Given the description of an element on the screen output the (x, y) to click on. 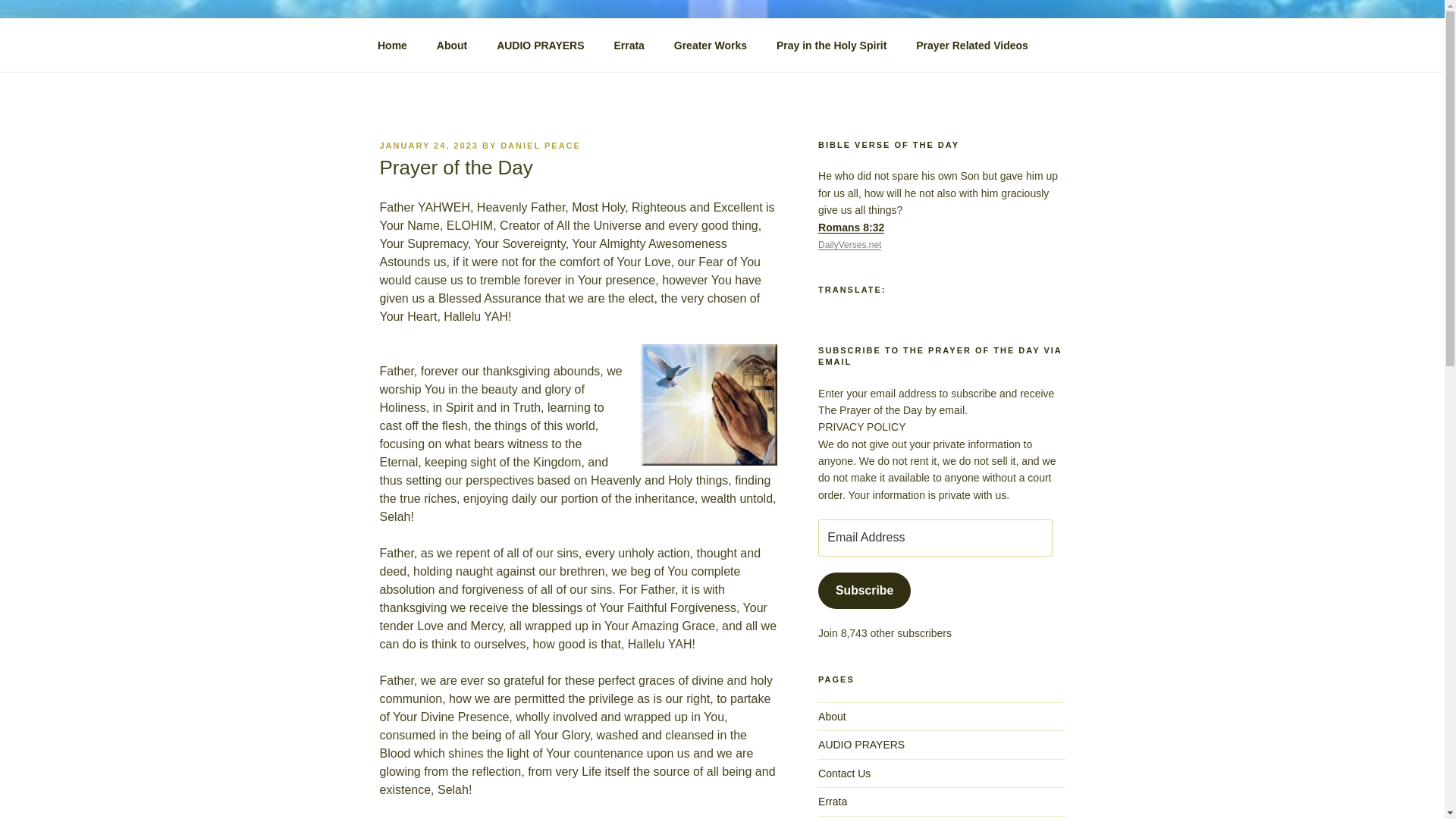
Lk 11:1 (544, 44)
Contact Us (844, 773)
About (451, 45)
DailyVerses.net (849, 244)
Romans 8:32 (850, 227)
THE PRAYER OF THE DAY (573, 52)
Subscribe (864, 590)
Pray in the Holy Spirit (830, 45)
AUDIO PRAYERS (861, 744)
Errata (628, 45)
